Given the description of an element on the screen output the (x, y) to click on. 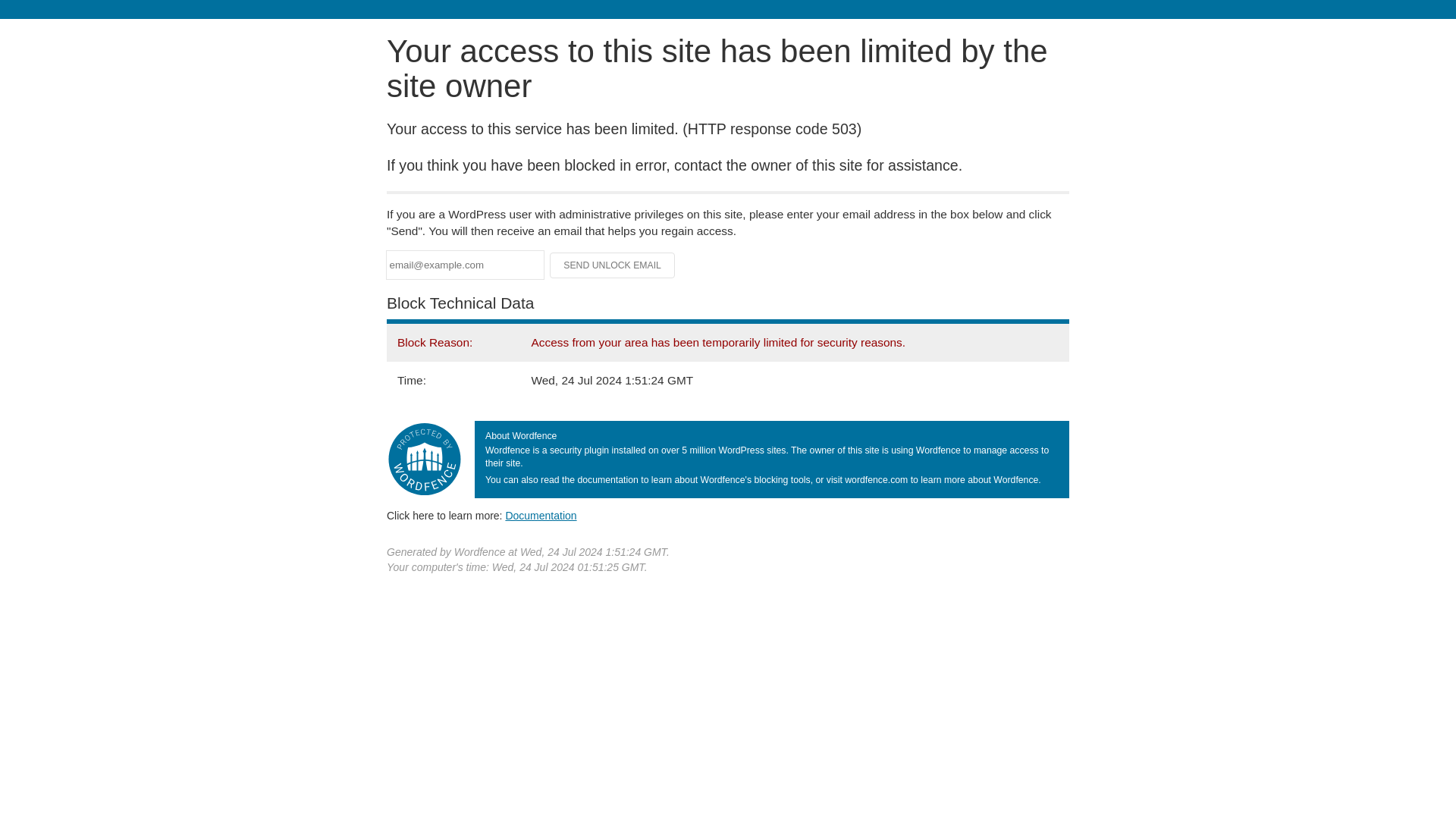
Documentation (540, 515)
Send Unlock Email (612, 265)
Send Unlock Email (612, 265)
